Given the description of an element on the screen output the (x, y) to click on. 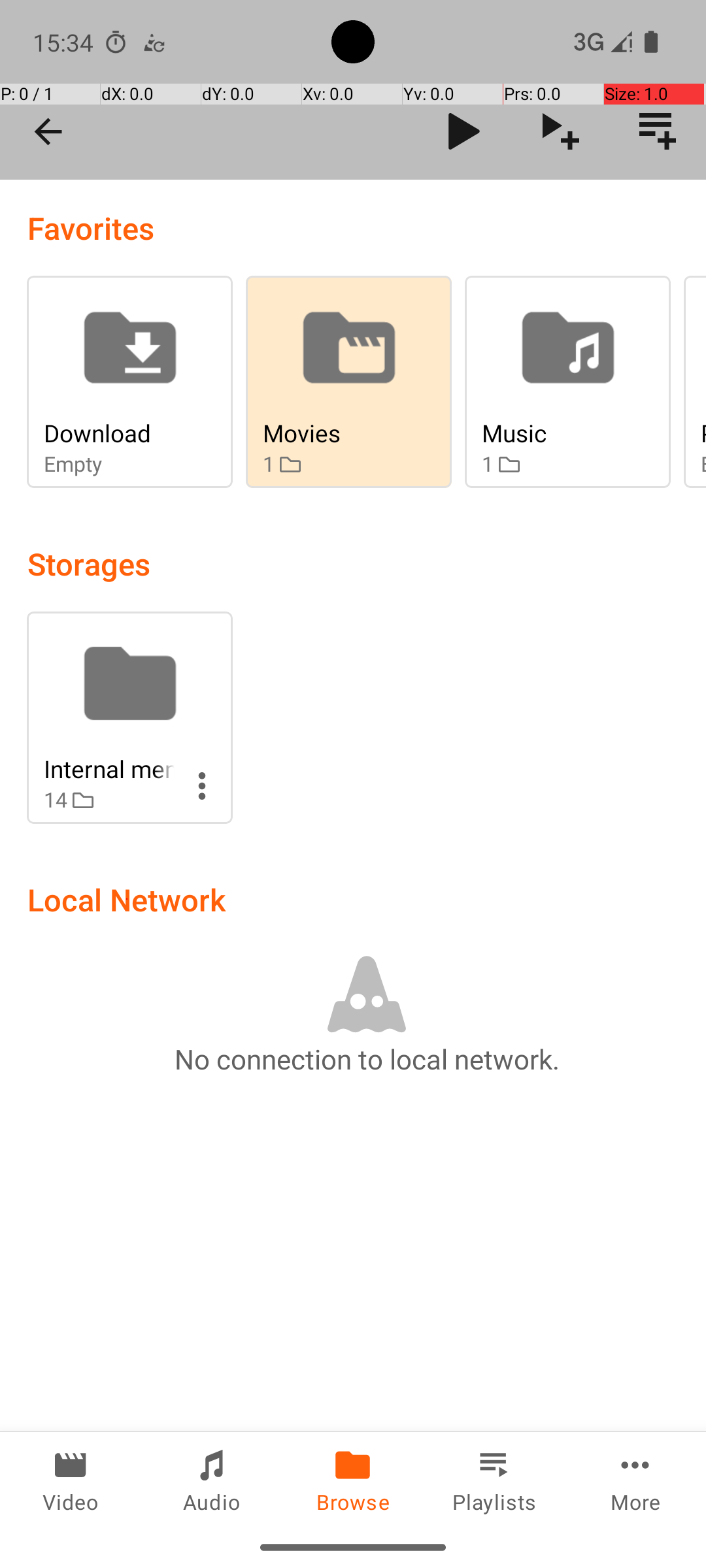
Append Element type: android.widget.TextView (560, 131)
Add to playlist Element type: android.widget.TextView (657, 131)
Folder: Internal memory, 14 subfolders Element type: androidx.cardview.widget.CardView (129, 717)
14 §*§ Element type: android.widget.TextView (108, 799)
